Given the description of an element on the screen output the (x, y) to click on. 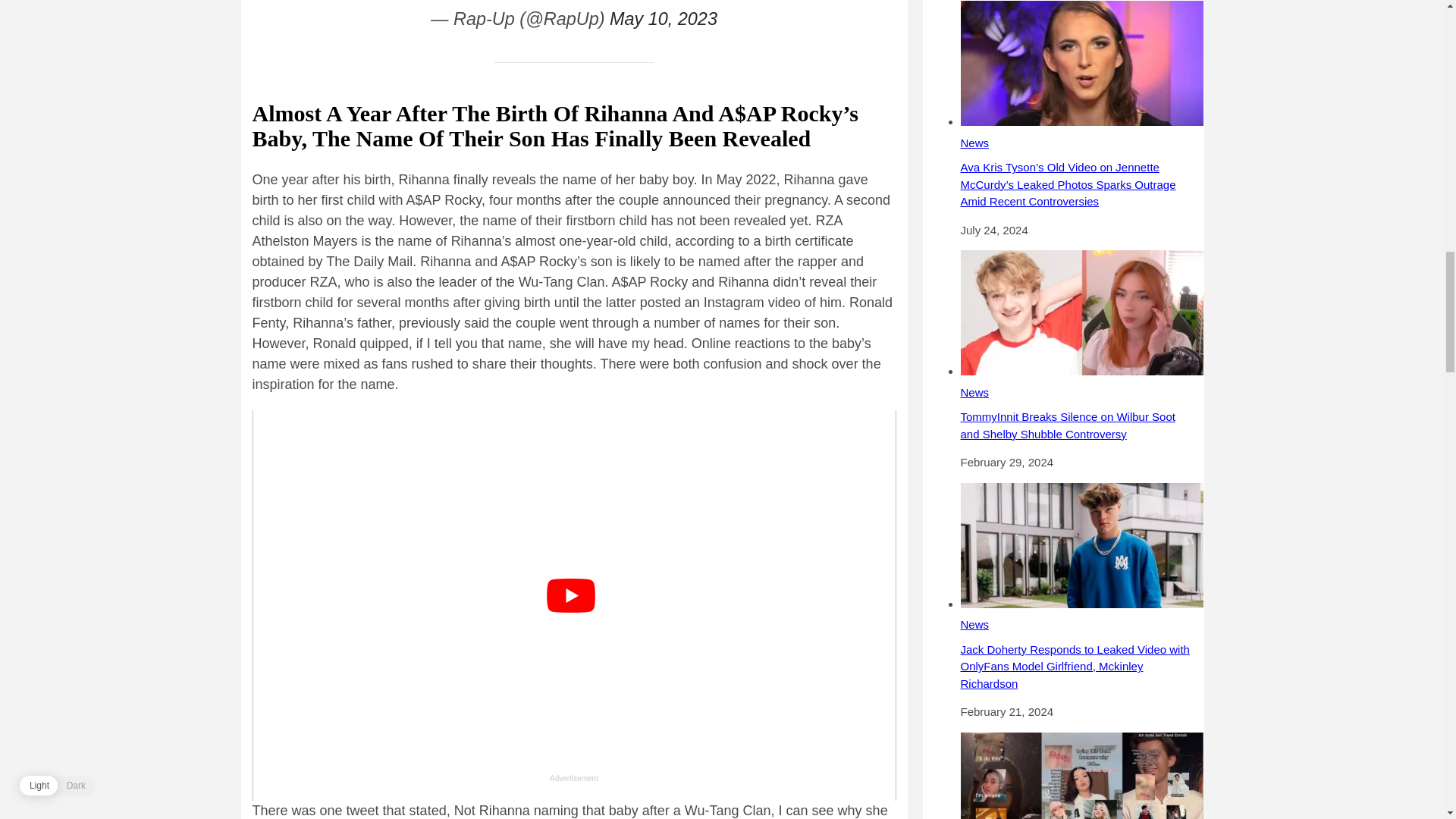
May 10, 2023 (663, 18)
